Given the description of an element on the screen output the (x, y) to click on. 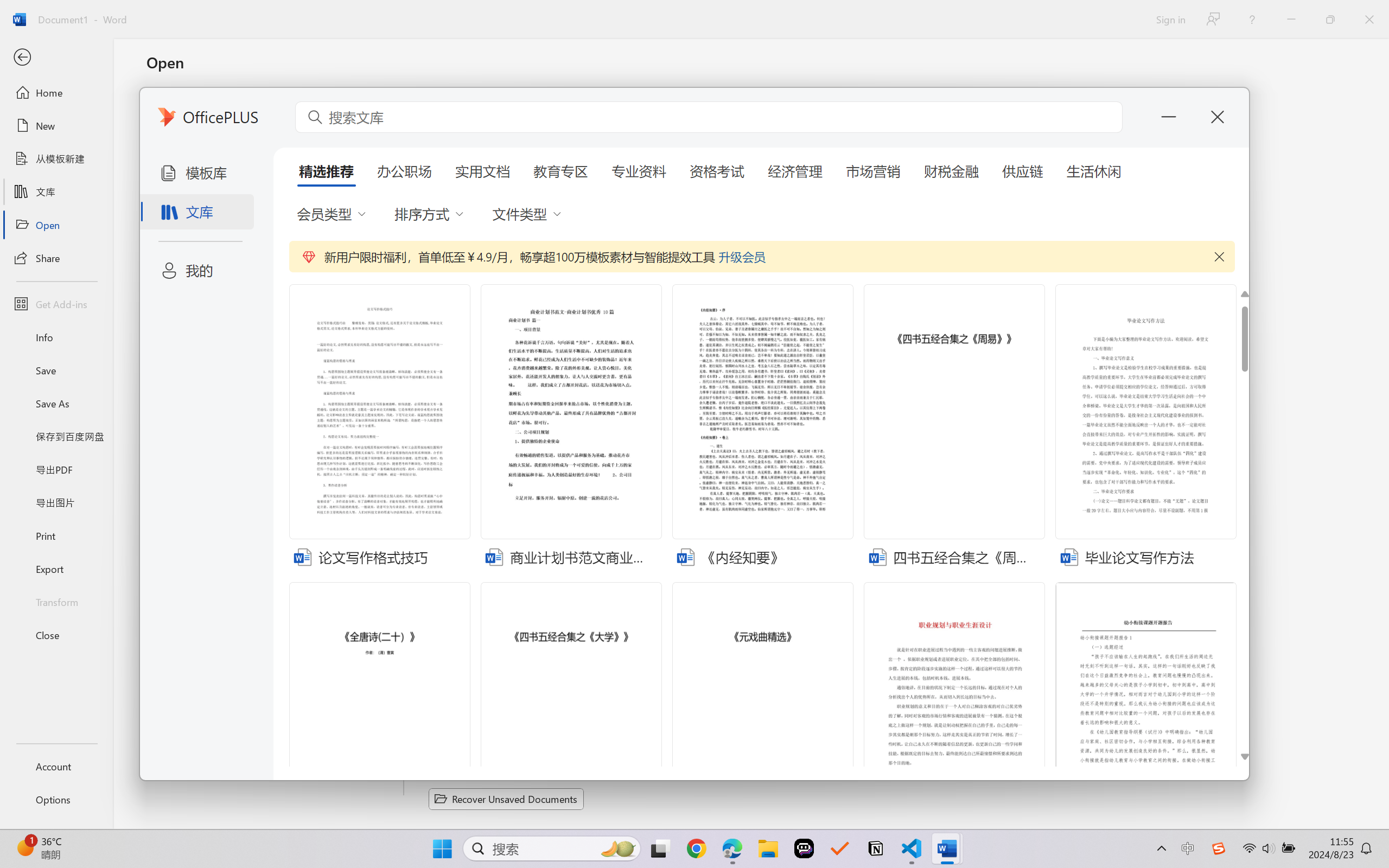
Print (56, 535)
Class: ___510cvc0 f64fuq3 fjamq6b f11u7vat (1068, 555)
